Given the description of an element on the screen output the (x, y) to click on. 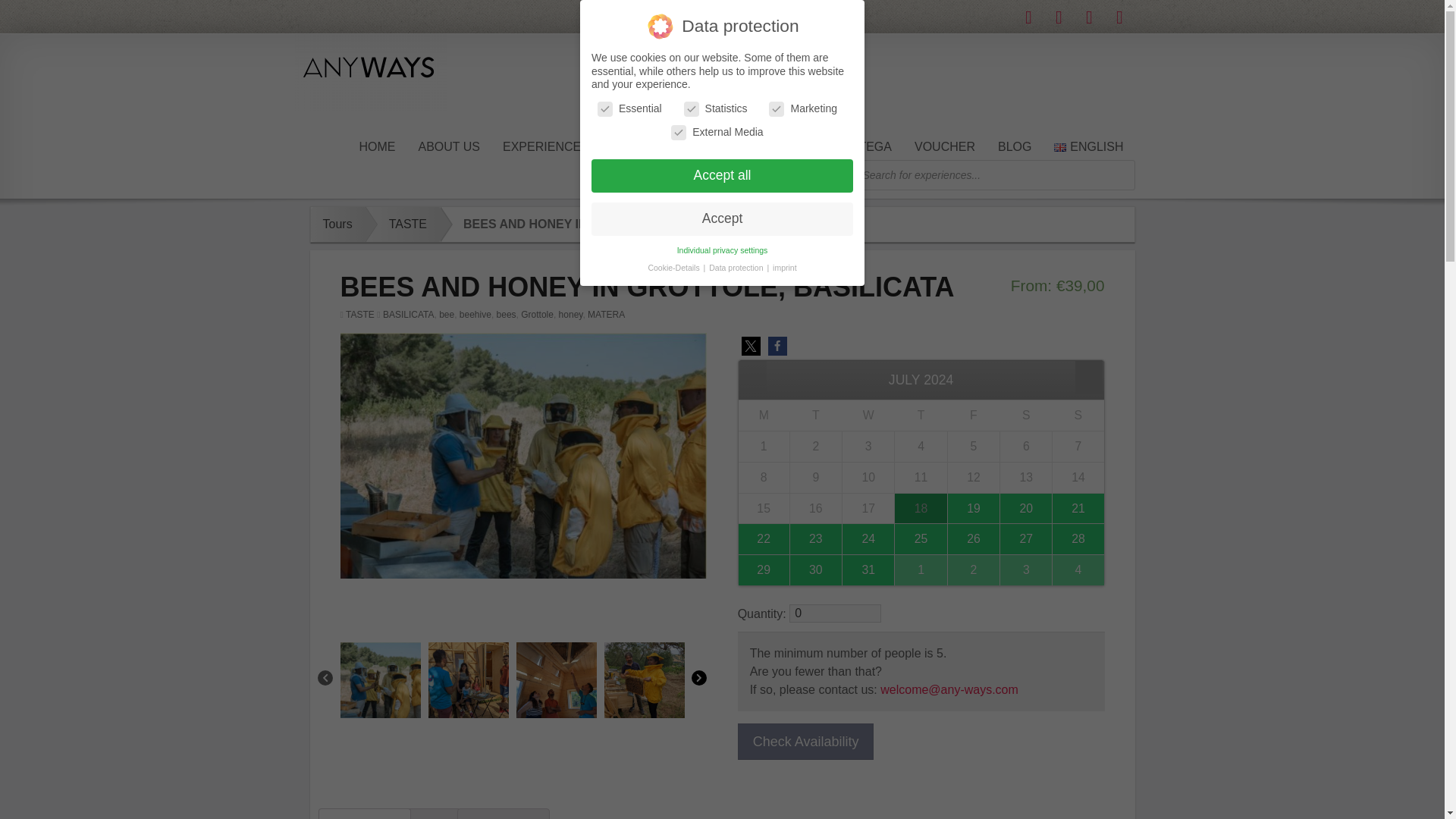
Tours (338, 224)
ITALIAN LANGUAGE (669, 146)
Bees Honey Grottole Basilicata (644, 682)
bee (446, 314)
bees and honey in Basilicata (379, 682)
bees (506, 314)
Grottole (537, 314)
TASTE (402, 224)
0 (834, 613)
LA BOTTEGA (853, 146)
beehive (476, 314)
honey (571, 314)
ENGLISH (1088, 146)
BASILICATA (407, 314)
EXPERIENCES (545, 146)
